Given the description of an element on the screen output the (x, y) to click on. 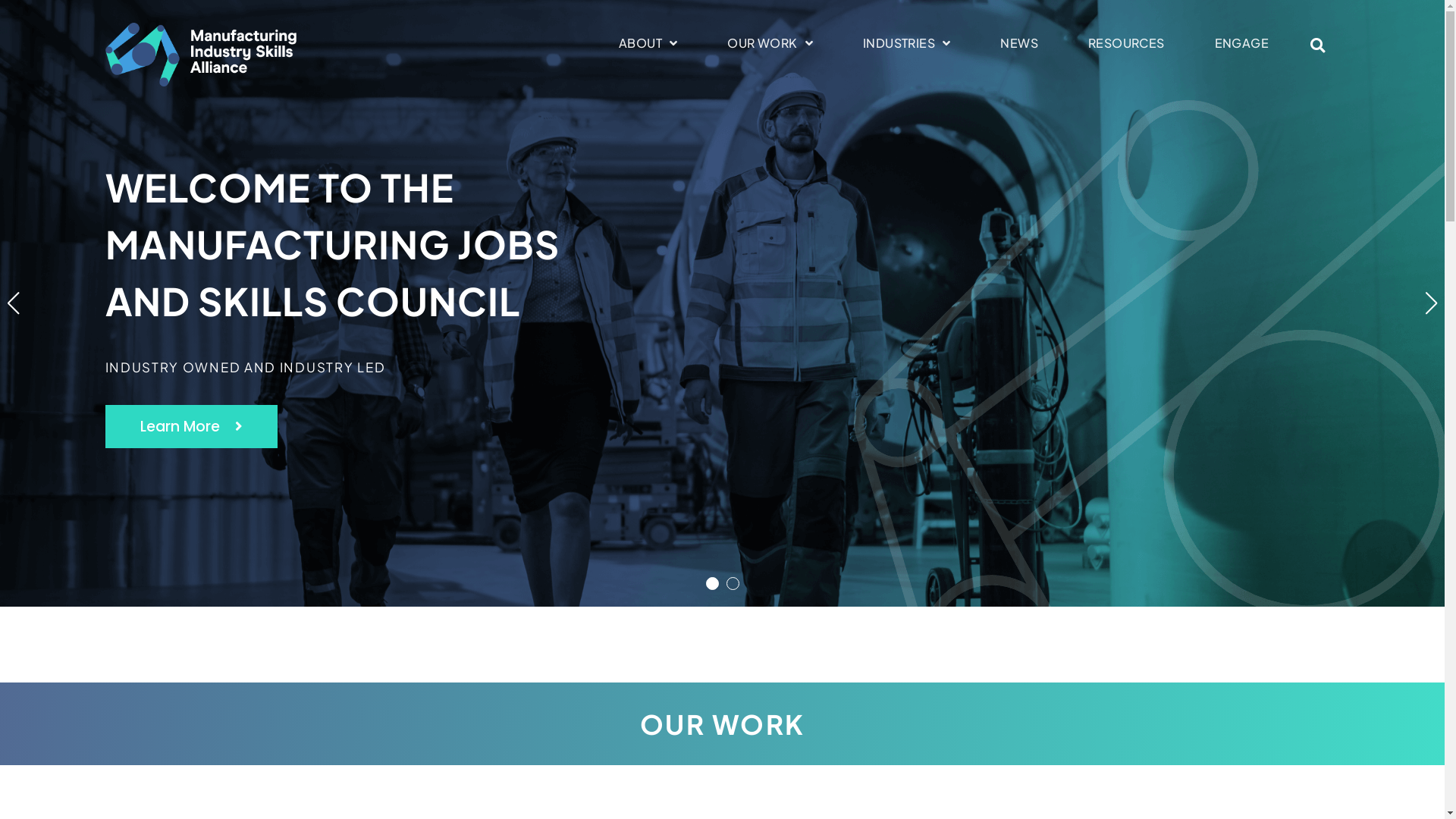
Learn More Element type: text (190, 426)
RESOURCES Element type: text (1126, 42)
OUR WORK Element type: text (769, 42)
INDUSTRIES Element type: text (906, 42)
ABOUT Element type: text (647, 42)
ENGAGE Element type: text (1241, 42)
NEWS Element type: text (1019, 42)
